Given the description of an element on the screen output the (x, y) to click on. 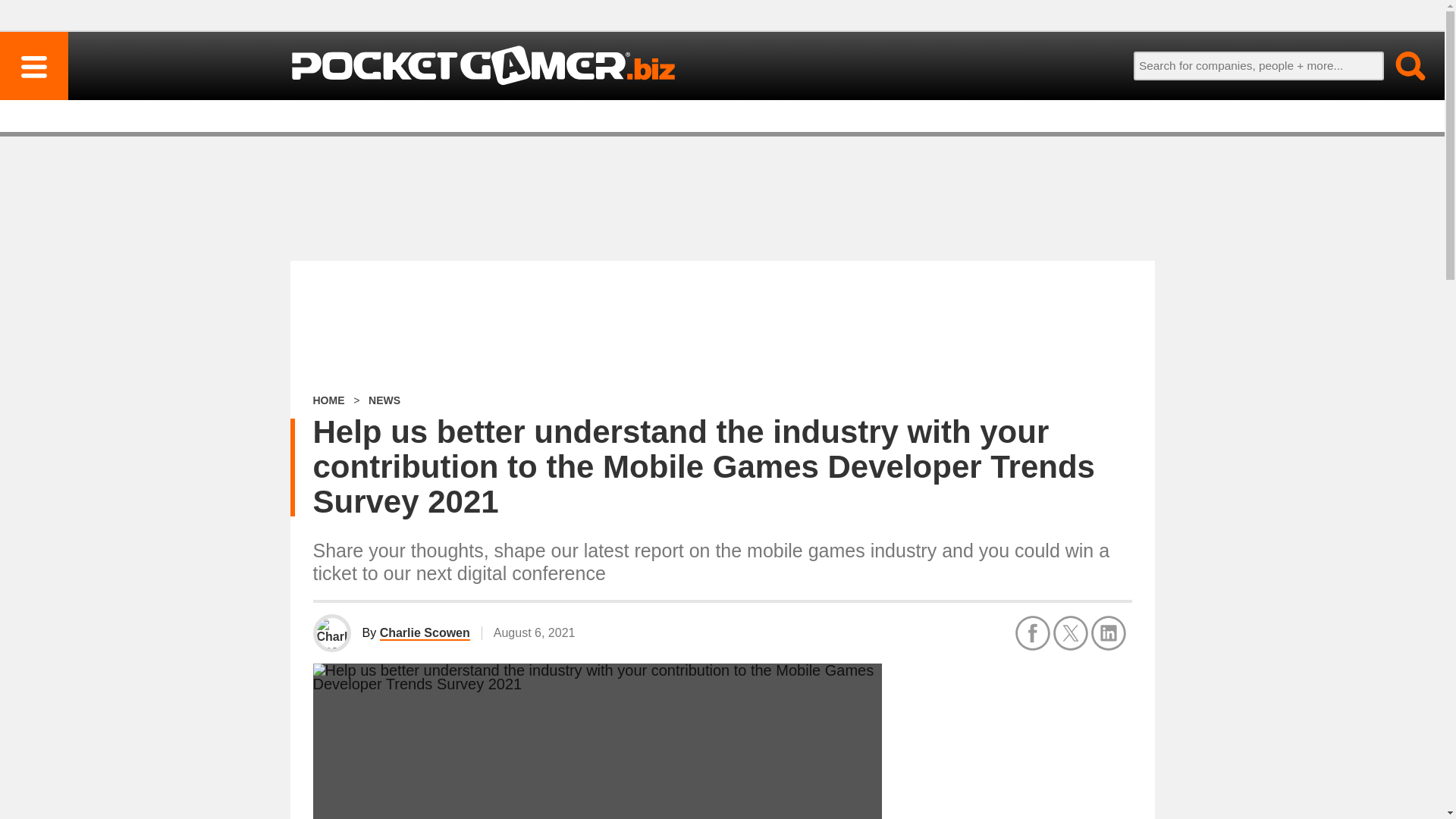
Go (1402, 65)
HOME (328, 400)
NEWS (384, 400)
Charlie Scowen (425, 633)
Go (1402, 65)
